Given the description of an element on the screen output the (x, y) to click on. 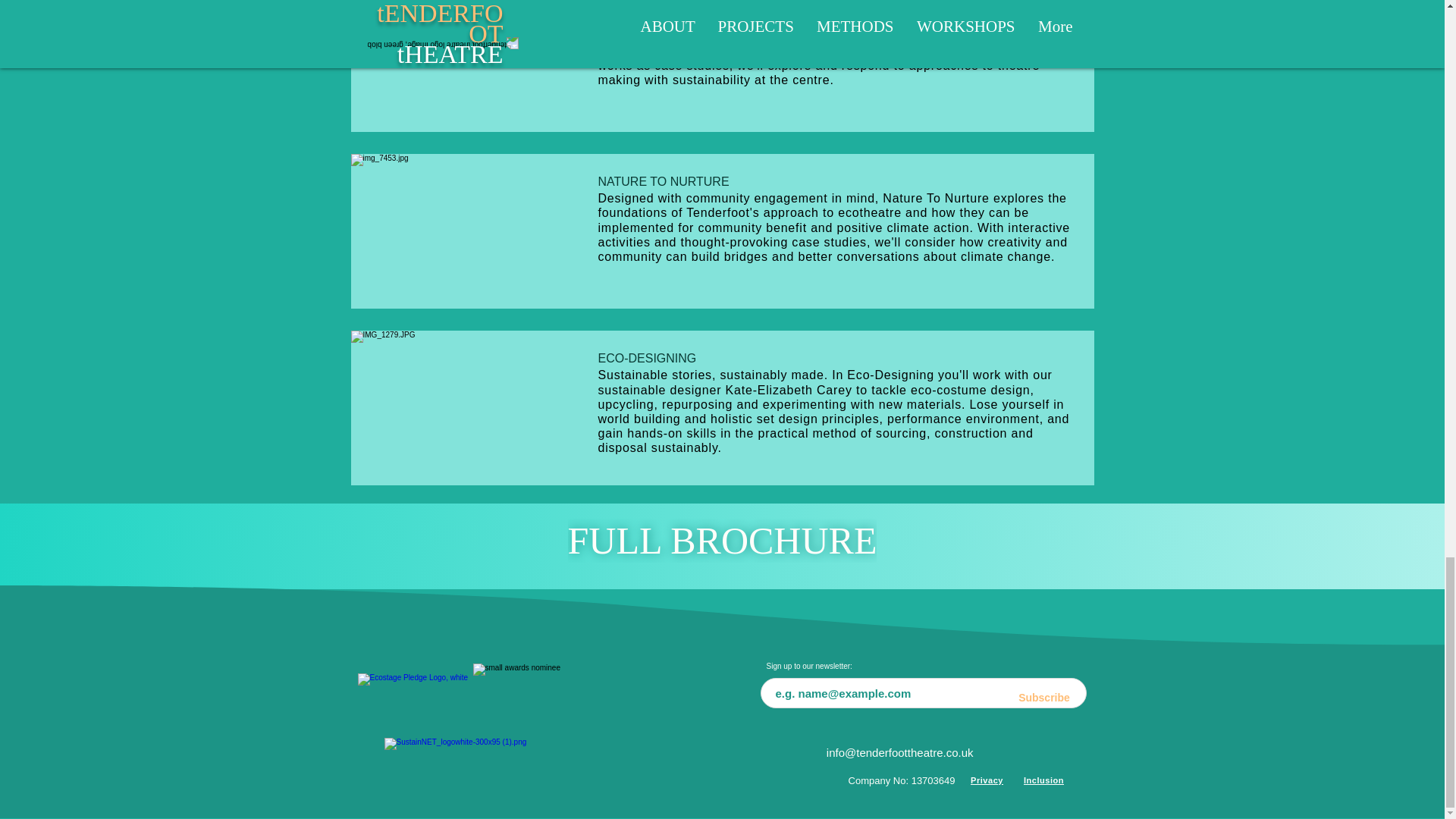
A822ABFB-4A29-49EF-A5DA-4A66C4A088FD.png (534, 698)
Inclusion (1043, 779)
FULL BROCHURE (721, 540)
Subscribe (1044, 697)
Privacy (985, 780)
